Given the description of an element on the screen output the (x, y) to click on. 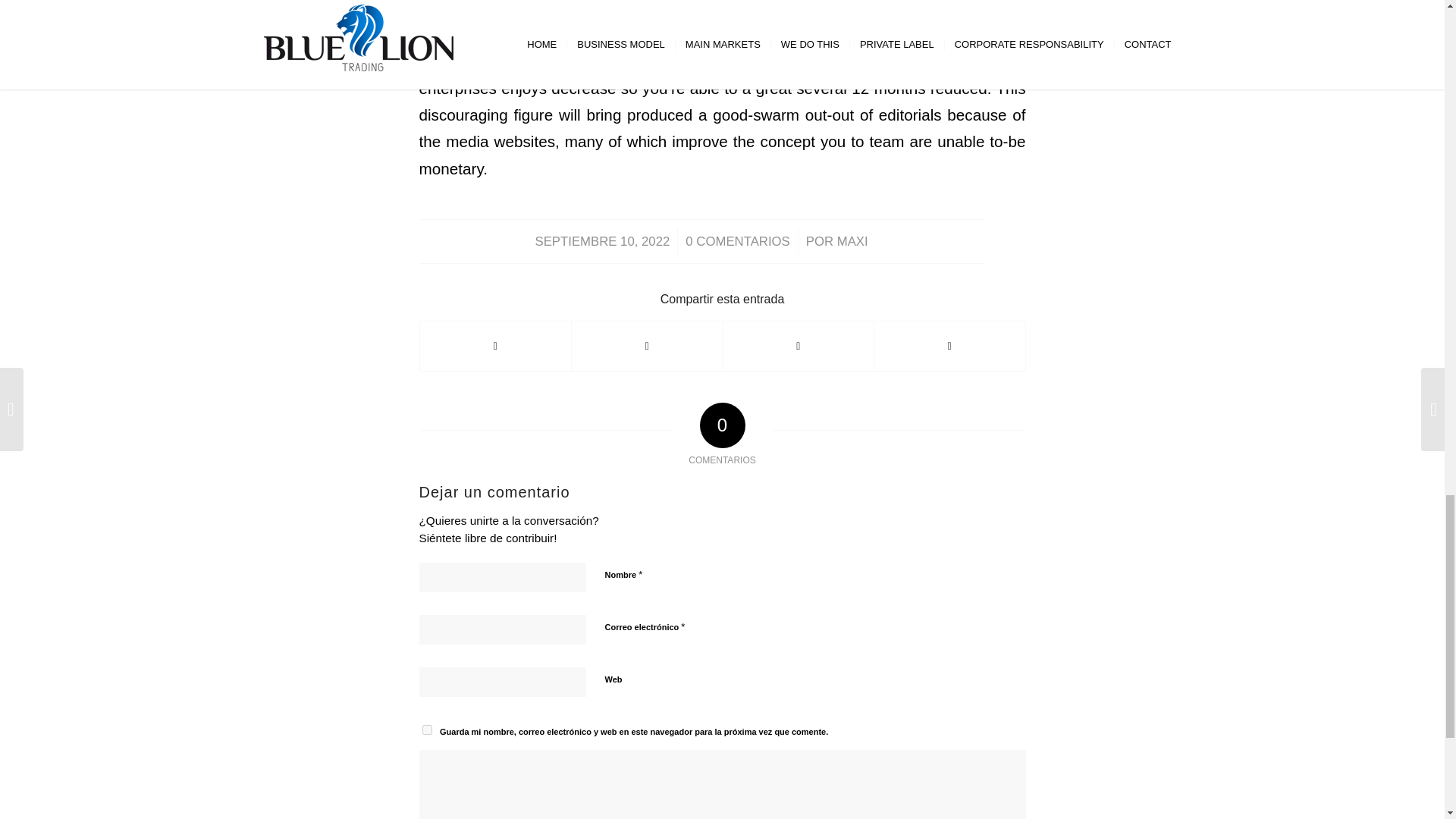
0 COMENTARIOS (737, 241)
yes (426, 729)
MAXI (852, 241)
Entradas de maxi (852, 241)
